Given the description of an element on the screen output the (x, y) to click on. 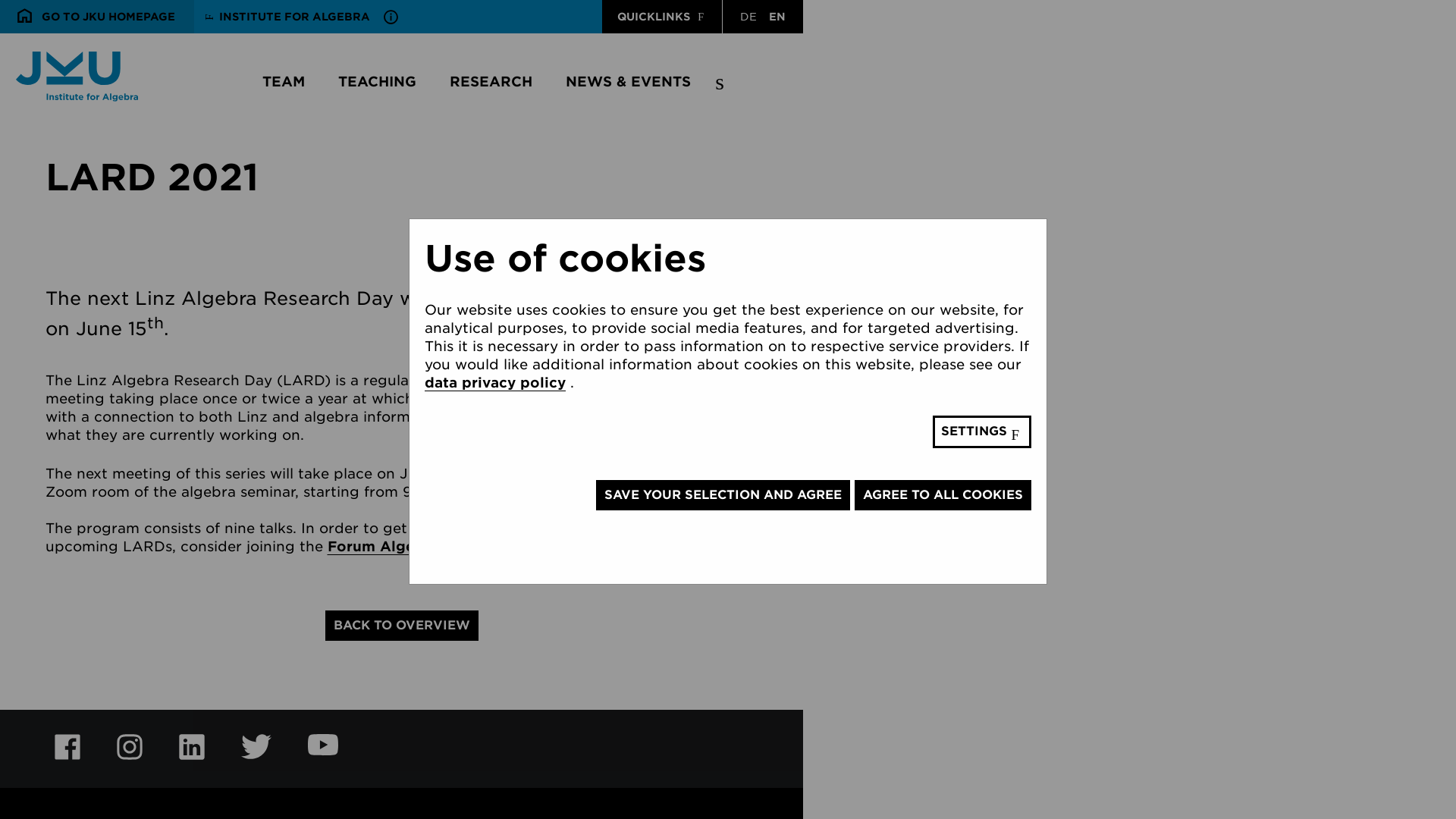
GO TO JKU HOMEPAGE (96, 16)
QUICKLINKS (662, 16)
